Given the description of an element on the screen output the (x, y) to click on. 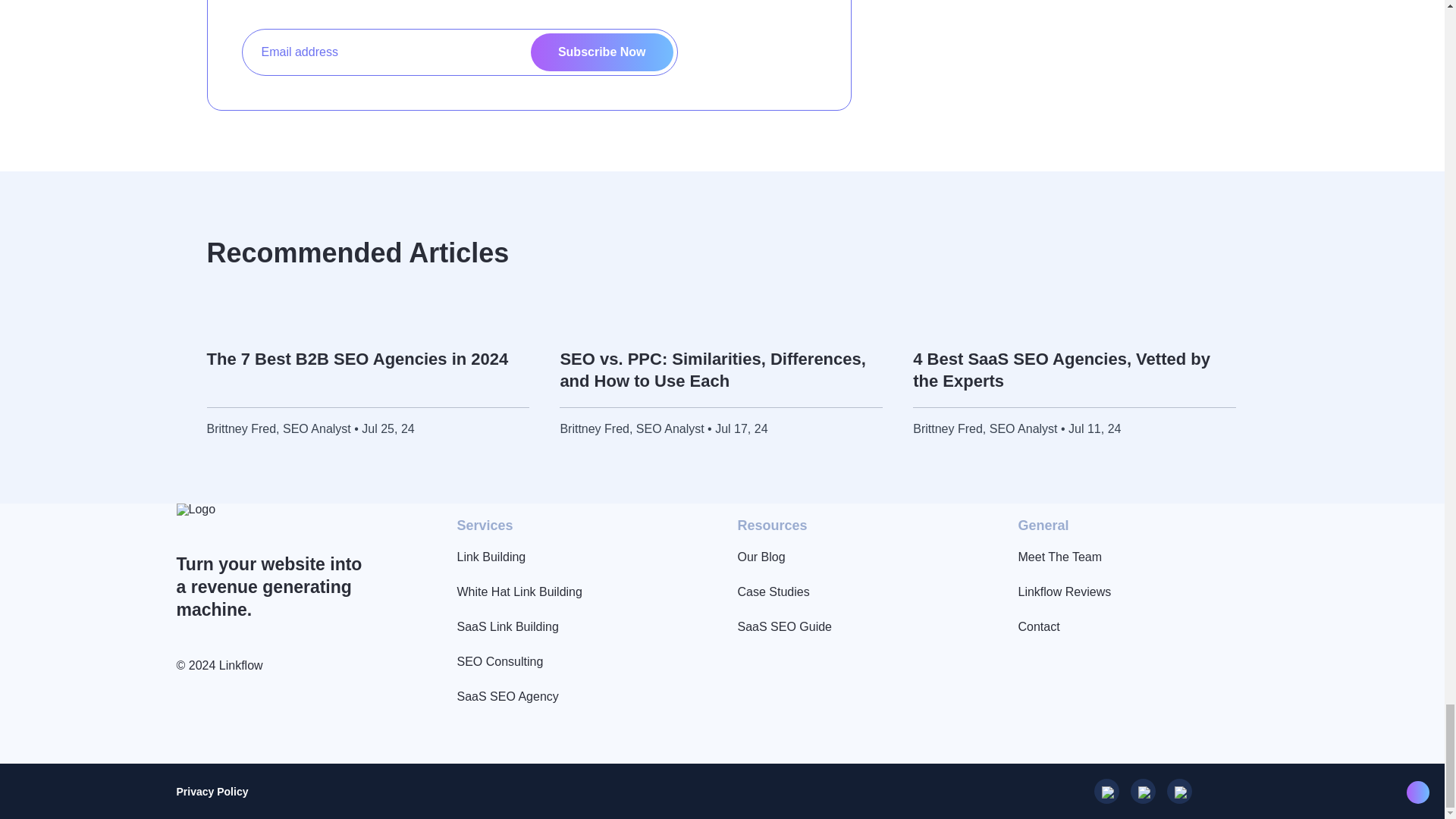
SaaS Link Building (507, 626)
SEO Consulting (500, 661)
Case Studies (772, 591)
White Hat Link Building (518, 591)
SaaS SEO Agency (507, 696)
Link Building (491, 556)
Our Blog (760, 556)
Subscribe Now (601, 52)
